Given the description of an element on the screen output the (x, y) to click on. 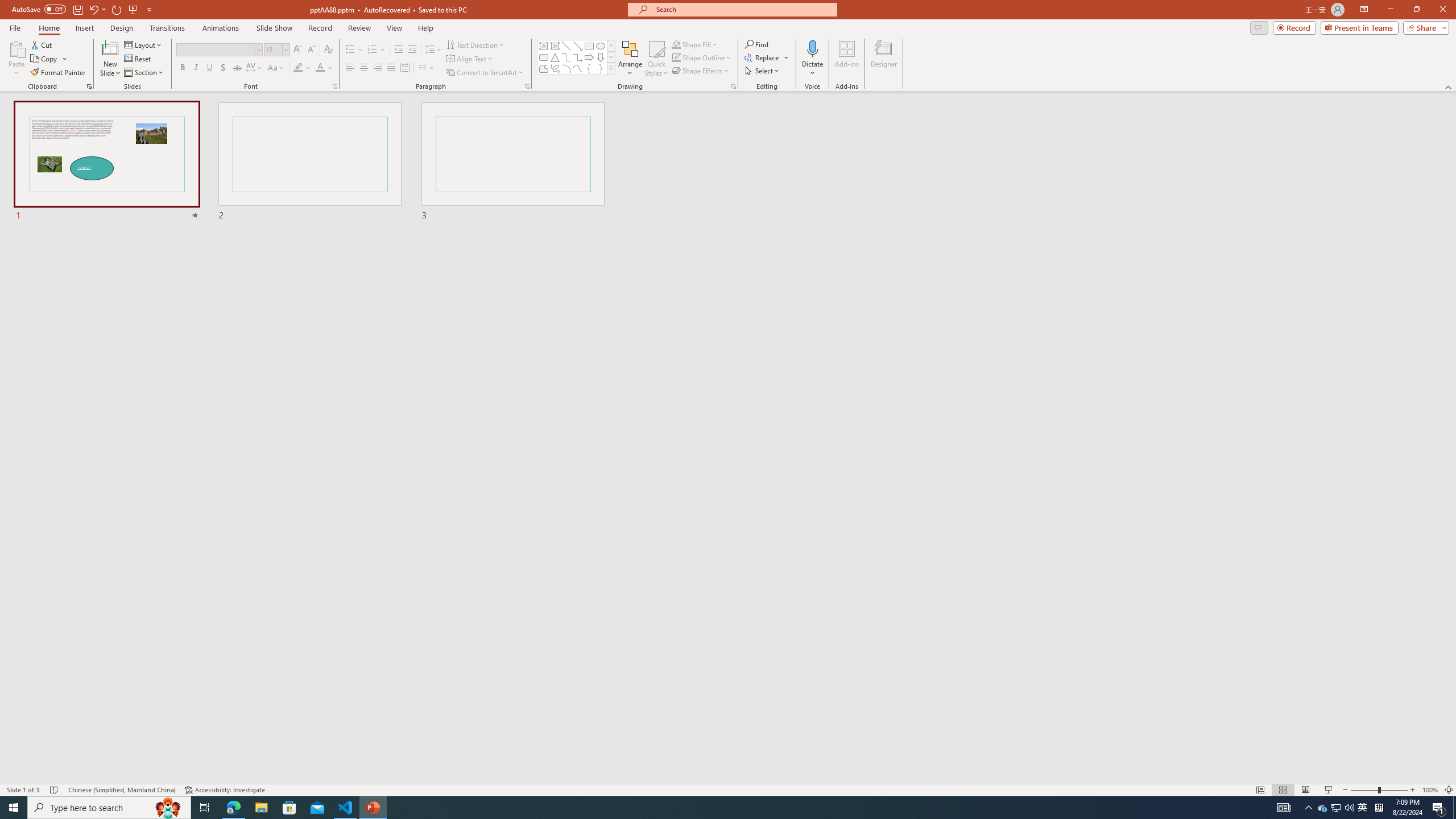
Oval (600, 45)
Collapse the Ribbon (1448, 86)
Shape Fill Aqua, Accent 2 (675, 44)
Class: MsoCommandBar (728, 789)
Line (566, 45)
AutomationID: ShapesInsertGallery (576, 57)
Comments (1259, 27)
Line Spacing (433, 49)
Convert to SmartArt (485, 72)
Italic (195, 67)
Text Highlight Color (302, 67)
Present in Teams (1359, 27)
Microsoft search (742, 9)
New Slide (110, 48)
Shape Fill (694, 44)
